Given the description of an element on the screen output the (x, y) to click on. 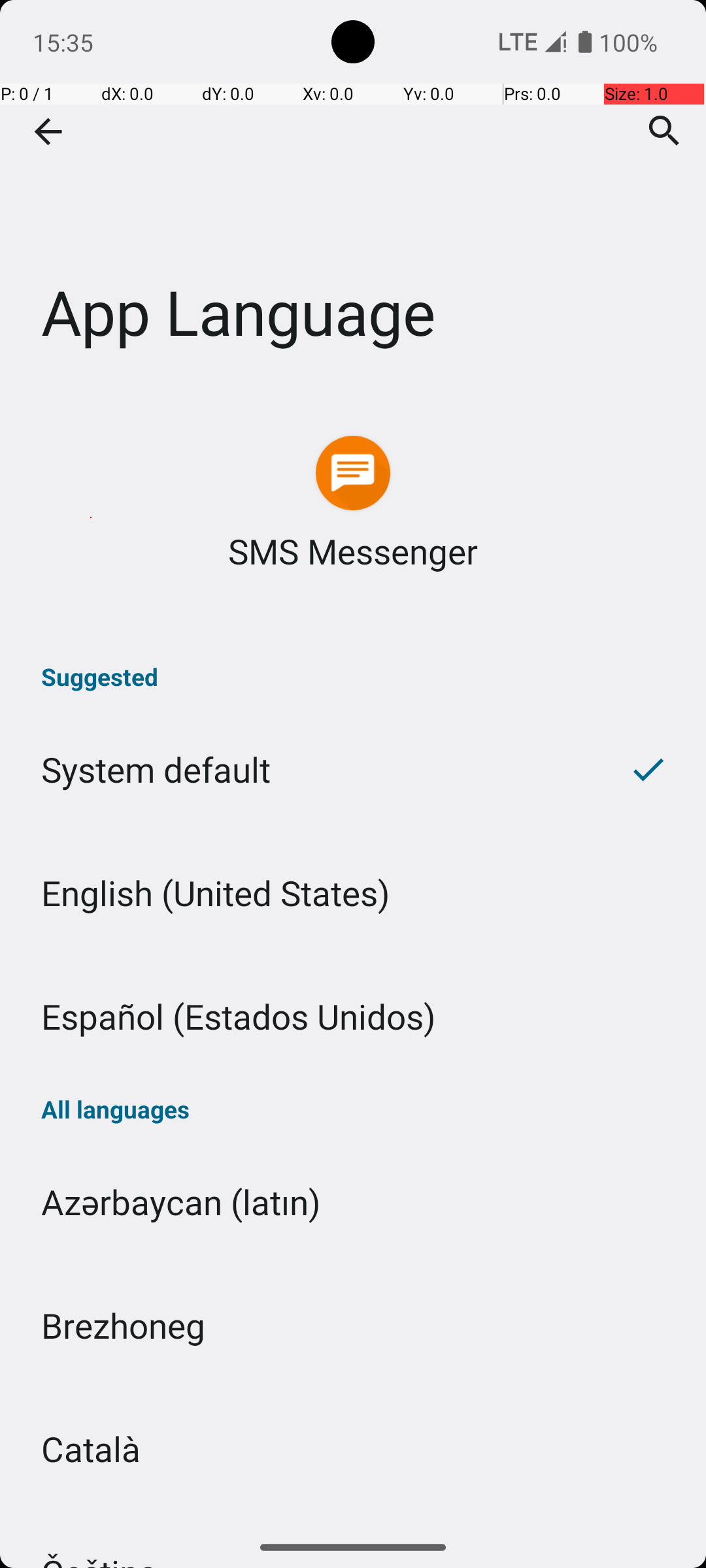
App Language Element type: android.widget.FrameLayout (353, 195)
Suggested Element type: android.widget.TextView (353, 676)
English (United States) Element type: android.widget.TextView (353, 892)
Español (Estados Unidos) Element type: android.widget.TextView (353, 1016)
All languages Element type: android.widget.TextView (353, 1109)
Azərbaycan (latın) Element type: android.widget.TextView (353, 1201)
Brezhoneg Element type: android.widget.TextView (353, 1325)
Català Element type: android.widget.TextView (353, 1448)
Čeština Element type: android.widget.TextView (353, 1518)
